Given the description of an element on the screen output the (x, y) to click on. 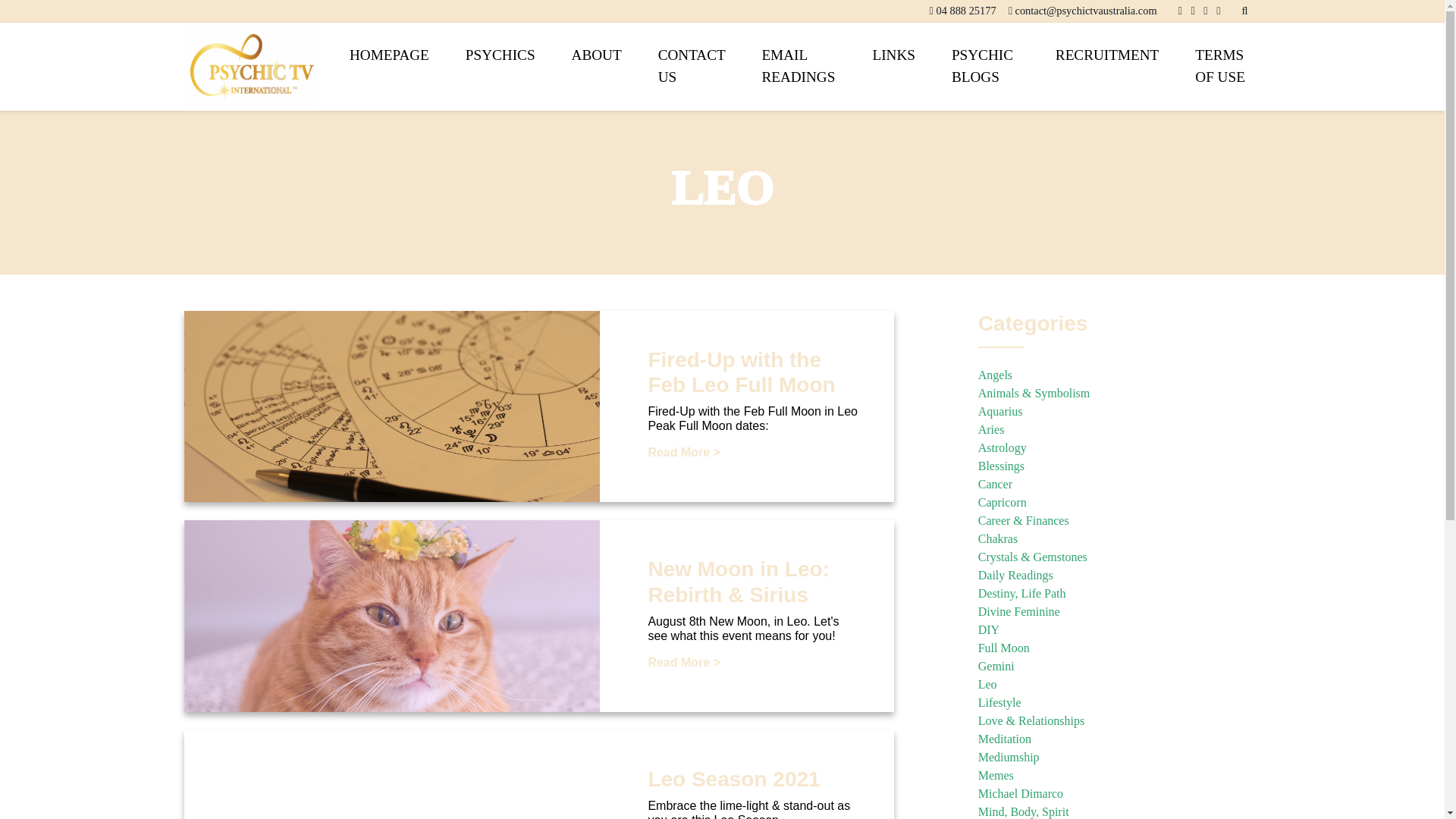
Contact US (692, 66)
04 888 25177 (965, 10)
RECRUITMENT (1106, 55)
Aquarius (1000, 410)
Aries (991, 429)
Psychic Blogs (984, 66)
LINKS (893, 55)
Psychics (499, 55)
CONTACT US (692, 66)
Angels (994, 374)
